Given the description of an element on the screen output the (x, y) to click on. 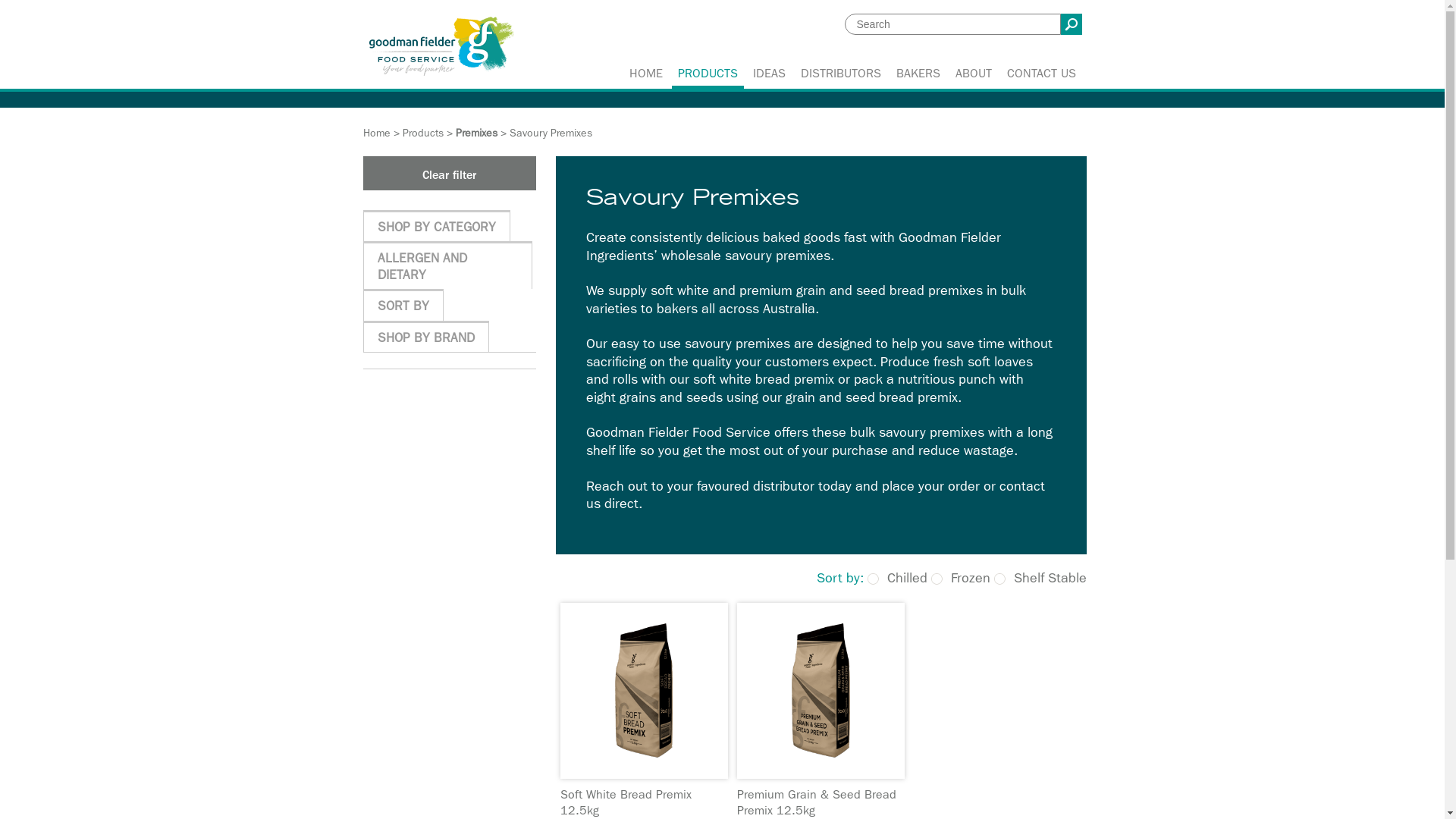
DISTRIBUTORS Element type: text (840, 73)
PRODUCTS Element type: text (707, 73)
ABOUT Element type: text (973, 73)
CONTACT US Element type: text (1040, 73)
HOME Element type: text (645, 73)
Premixes Element type: text (475, 132)
Clear filter Element type: text (448, 173)
Go to Premium Grain & Seed Bread Premix 12.5kg product page Element type: hover (820, 690)
Go to Soft White Bread Premix 12.5kg product page Element type: hover (643, 690)
BAKERS Element type: text (917, 73)
IDEAS Element type: text (768, 73)
